Given the description of an element on the screen output the (x, y) to click on. 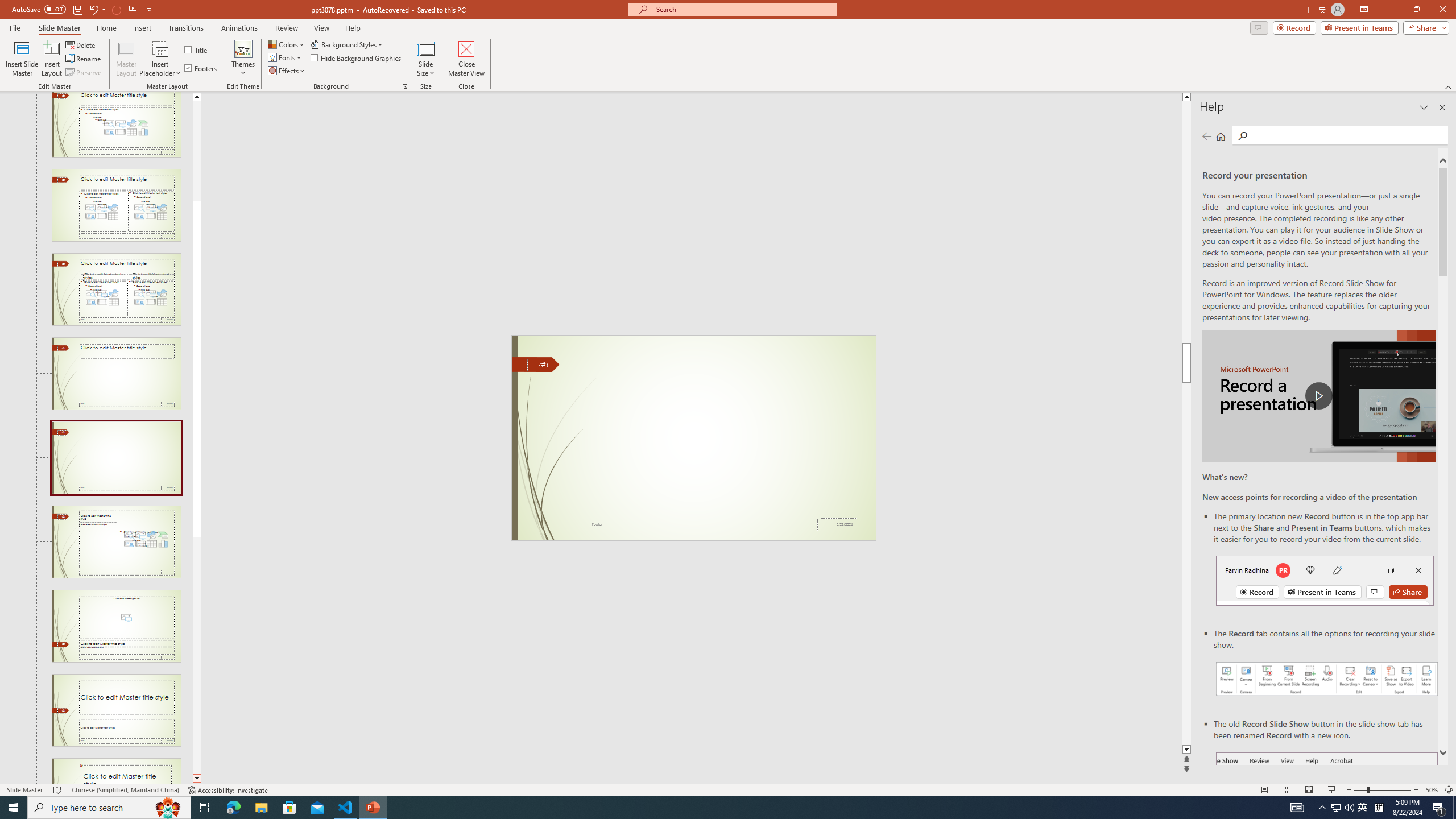
Undo (96, 9)
Slide Title and Caption Layout: used by no slides (116, 710)
Record (1294, 27)
